Given the description of an element on the screen output the (x, y) to click on. 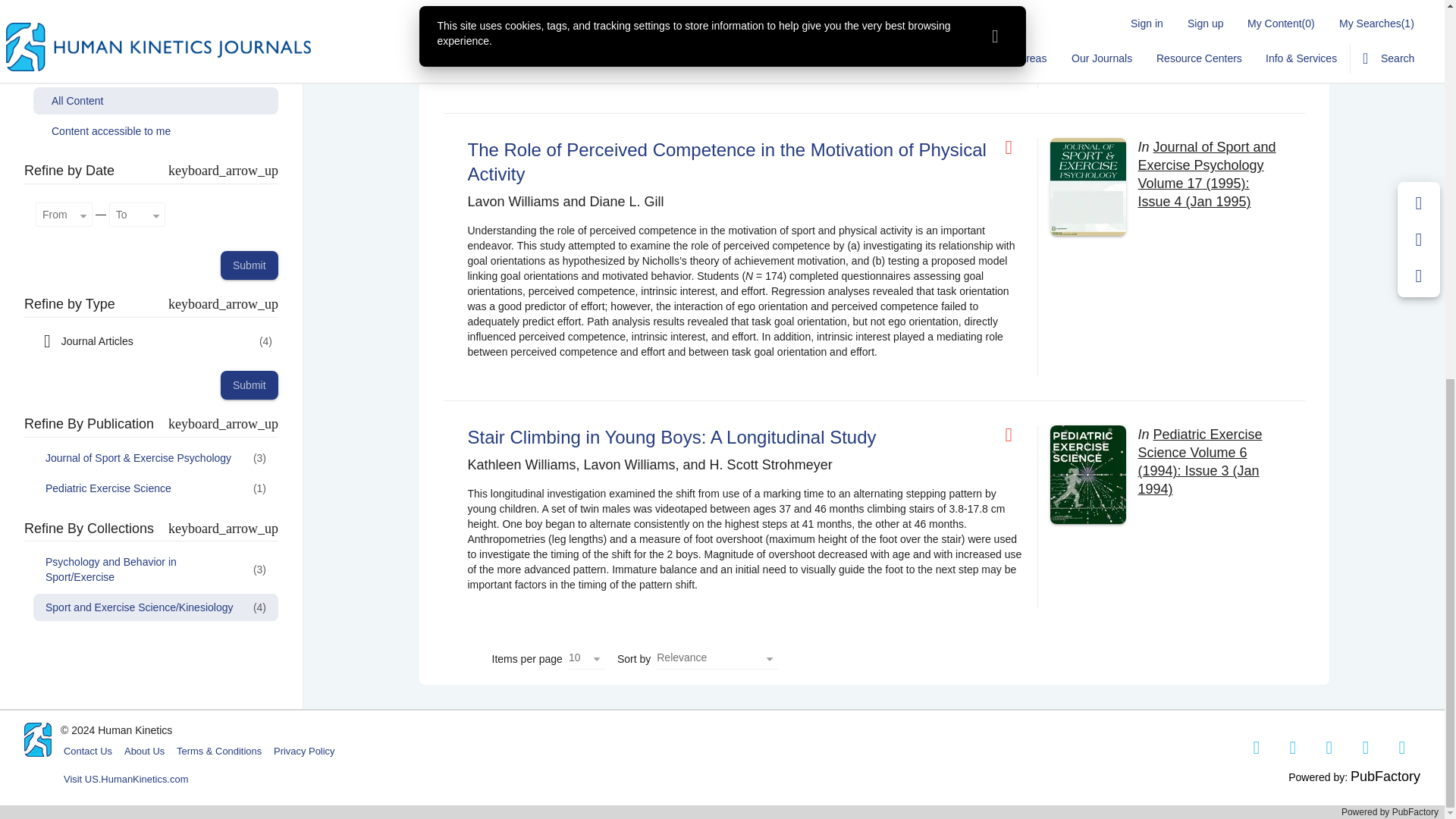
Restricted access (1015, 148)
Restricted access (1015, 435)
